Given the description of an element on the screen output the (x, y) to click on. 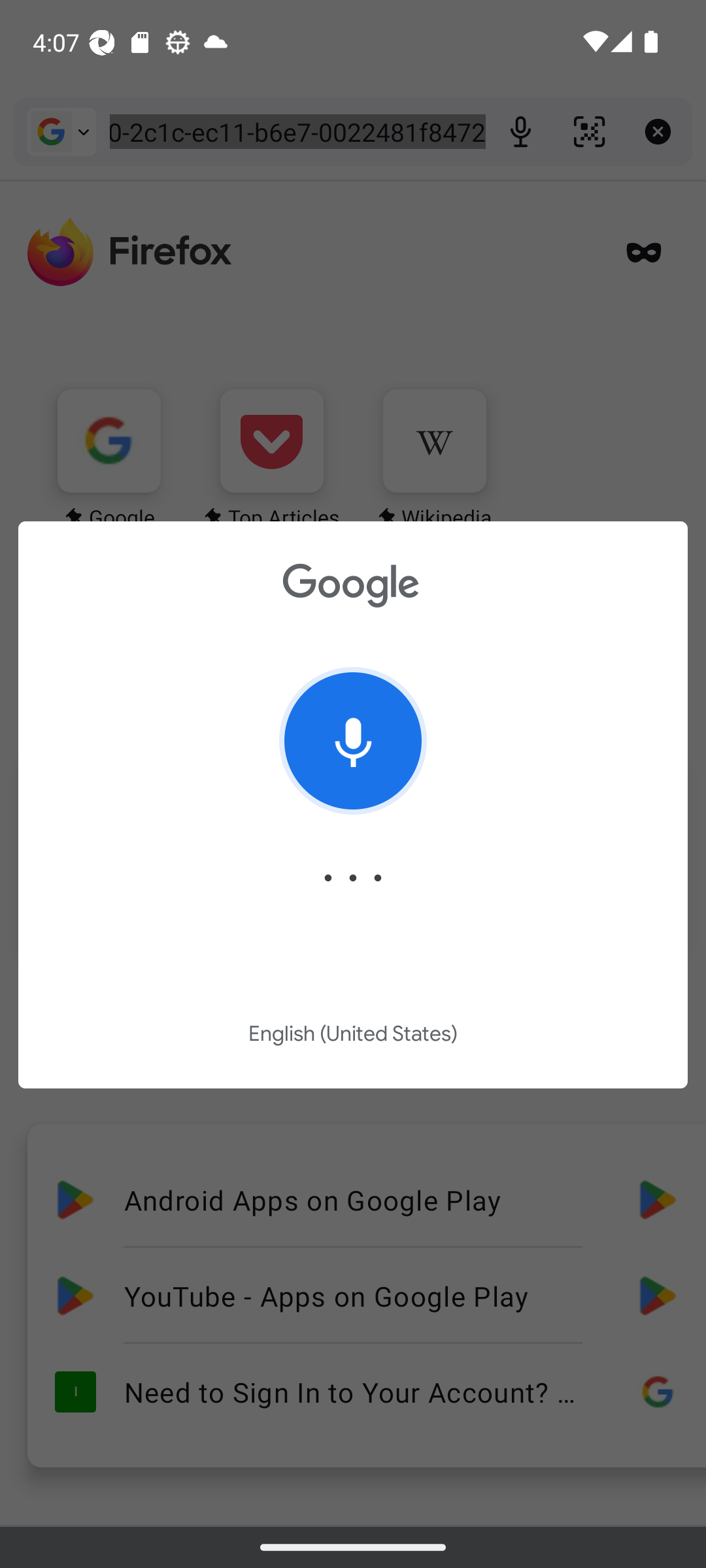
Tap to stop listening (353, 740)
